Given the description of an element on the screen output the (x, y) to click on. 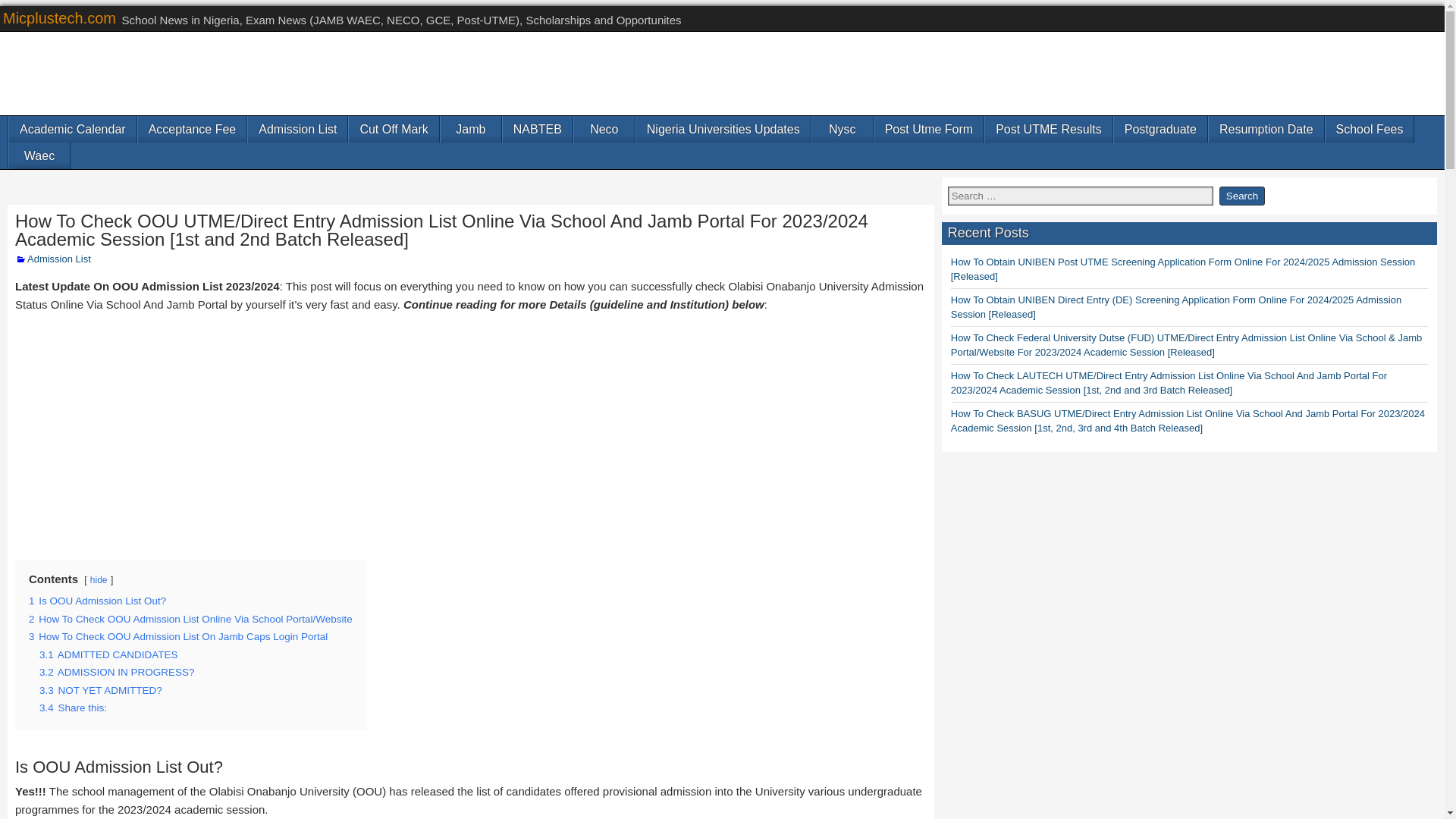
3.4 Share this: (72, 707)
Postgraduate (1160, 129)
Nysc (842, 129)
Neco (603, 129)
School Fees (1368, 129)
Micplustech.com (59, 17)
Cut Off Mark (393, 129)
Post UTME Results (1048, 129)
NABTEB (537, 129)
3.1 ADMITTED CANDIDATES (108, 654)
